Given the description of an element on the screen output the (x, y) to click on. 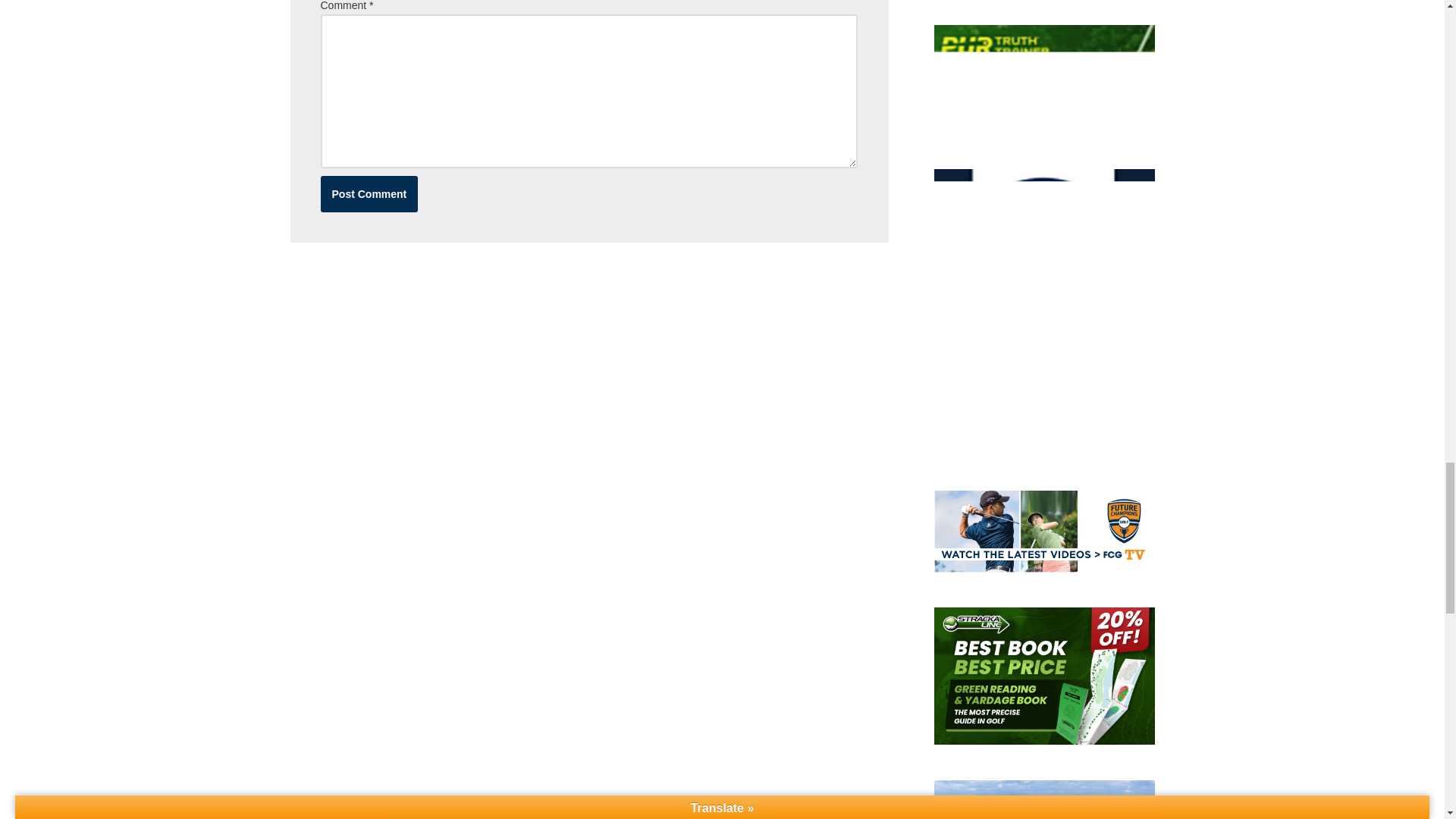
Post Comment (368, 194)
